Given the description of an element on the screen output the (x, y) to click on. 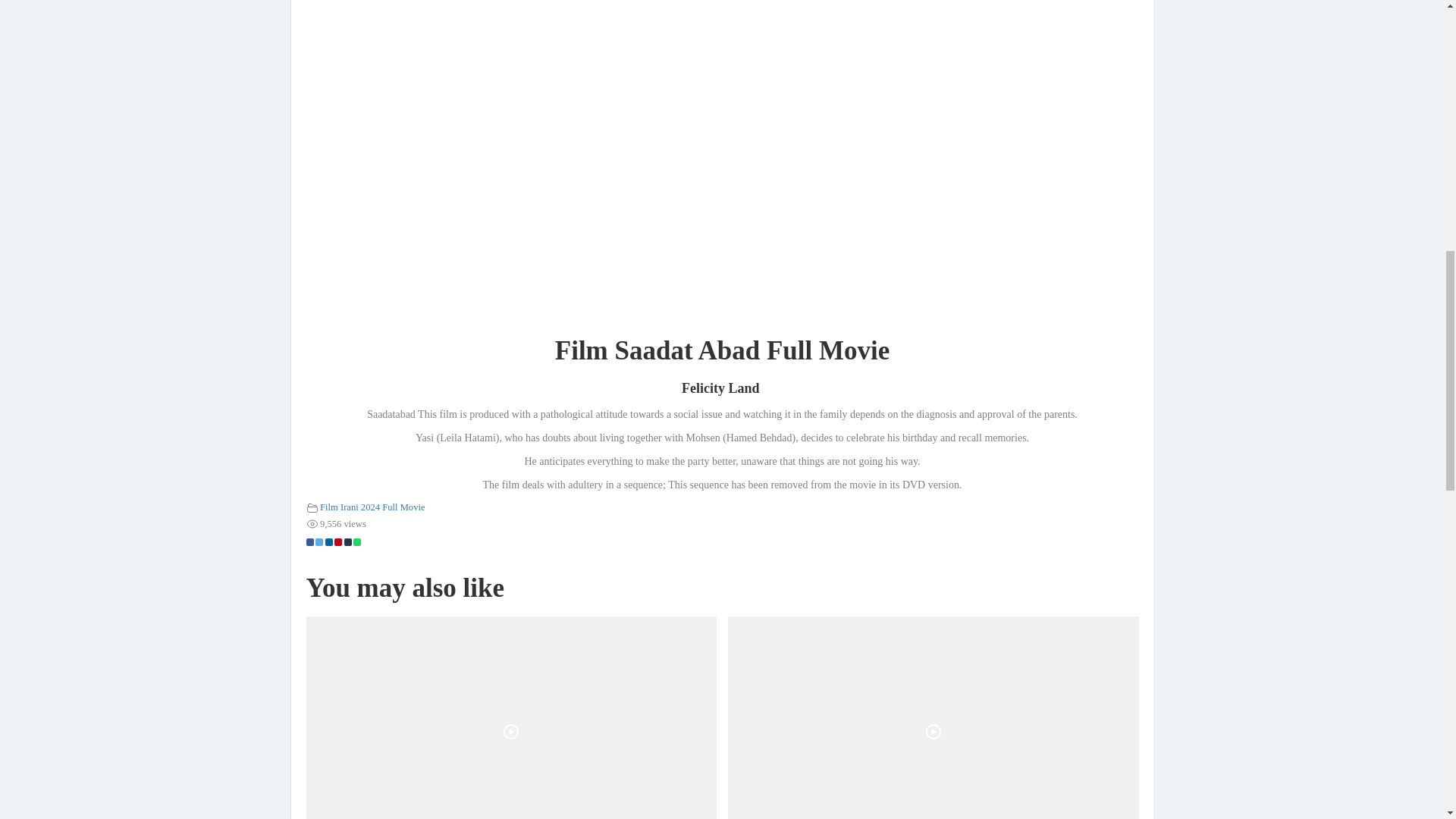
WhatsApp (357, 542)
Linkedin (327, 542)
Pin It (338, 542)
Twitter (319, 542)
Tumblr (347, 542)
Film Irani 2024 Full Movie (372, 507)
Facebook (309, 542)
